Given the description of an element on the screen output the (x, y) to click on. 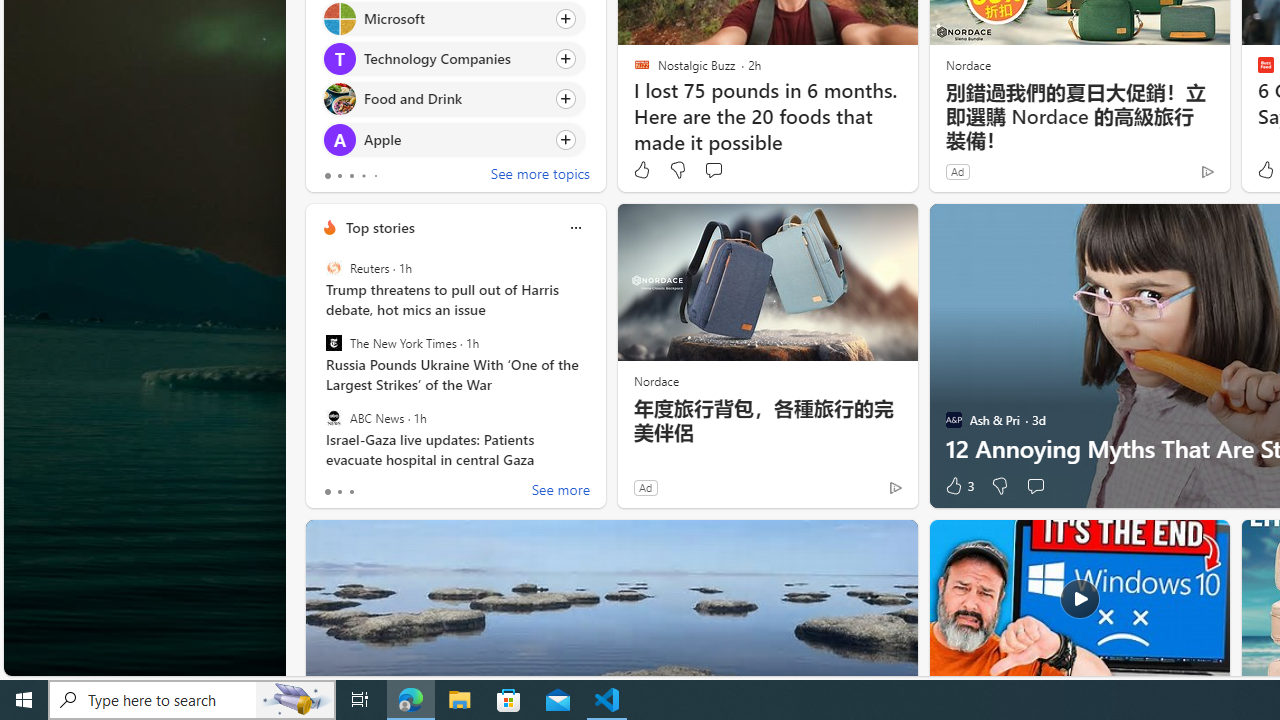
tab-3 (363, 175)
Food and Drink (338, 98)
